Given the description of an element on the screen output the (x, y) to click on. 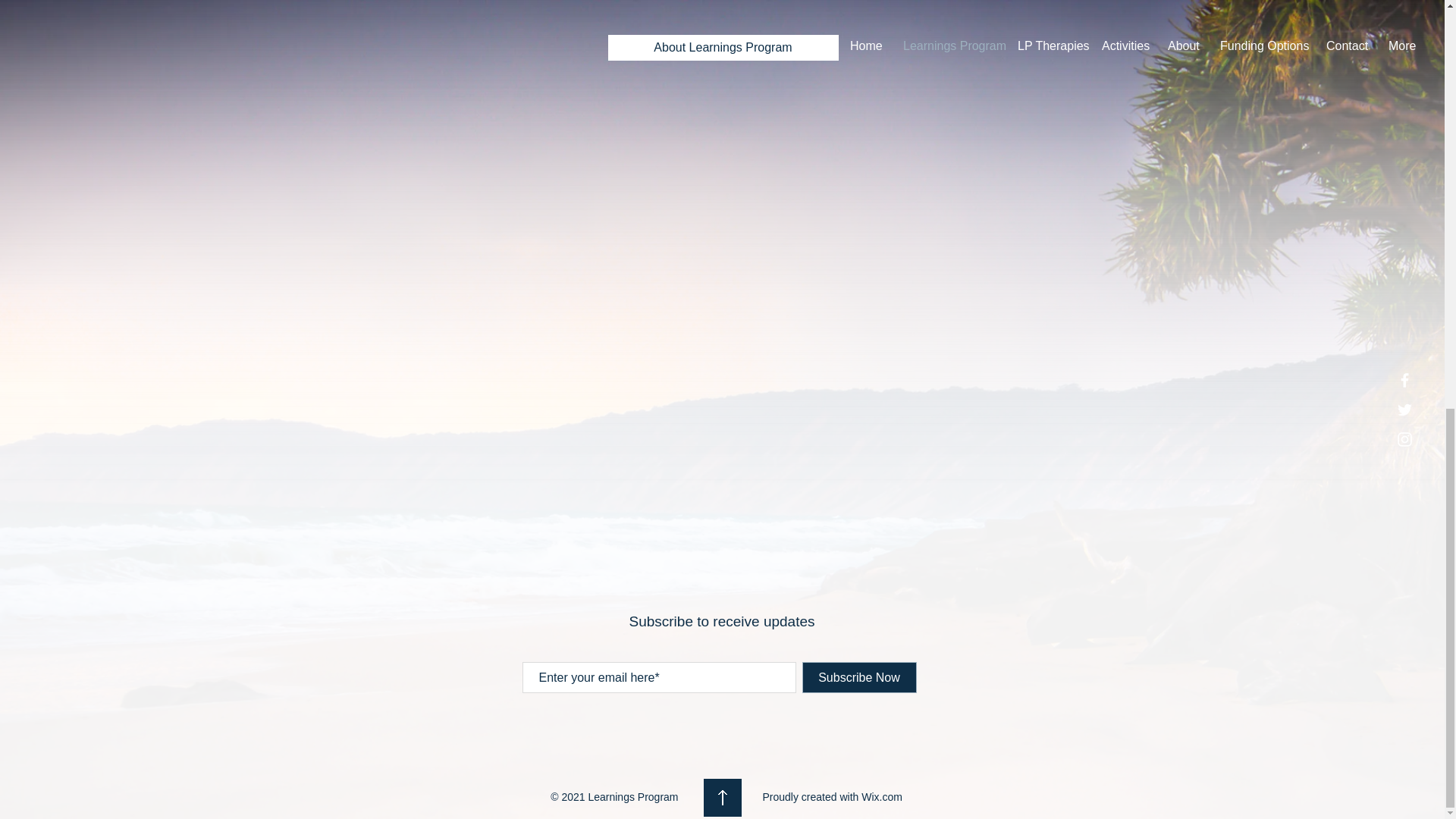
Subscribe Now (859, 676)
Proudly created with Wix.com (832, 797)
Subscribe to receive updates (720, 621)
About Learnings Program (723, 47)
